Given the description of an element on the screen output the (x, y) to click on. 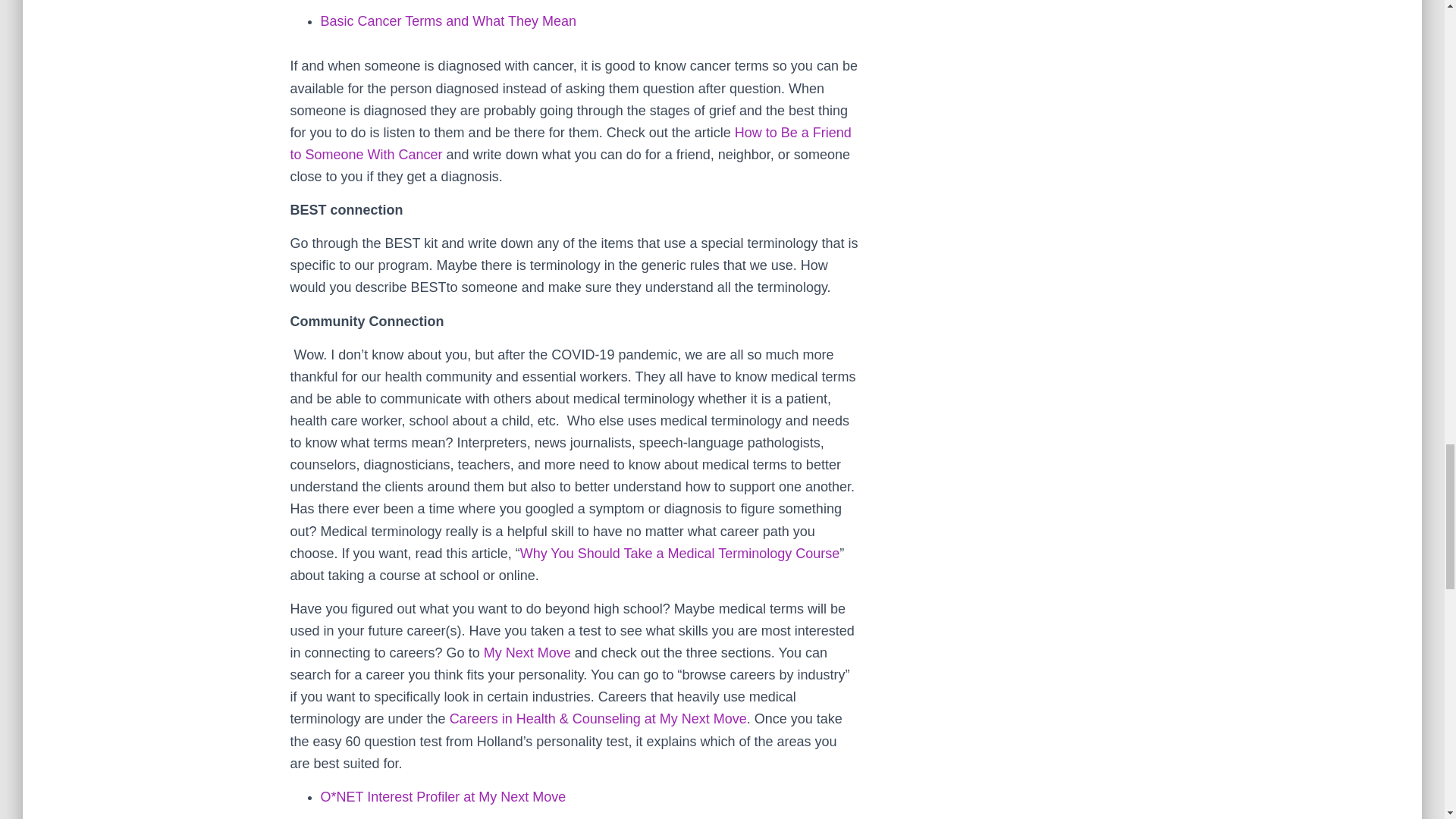
My Next Move (526, 652)
How to Be a Friend to Someone With Cancer (569, 143)
Why You Should Take a Medical Terminology Course (679, 553)
Basic Cancer Terms and What They Mean (447, 20)
